Given the description of an element on the screen output the (x, y) to click on. 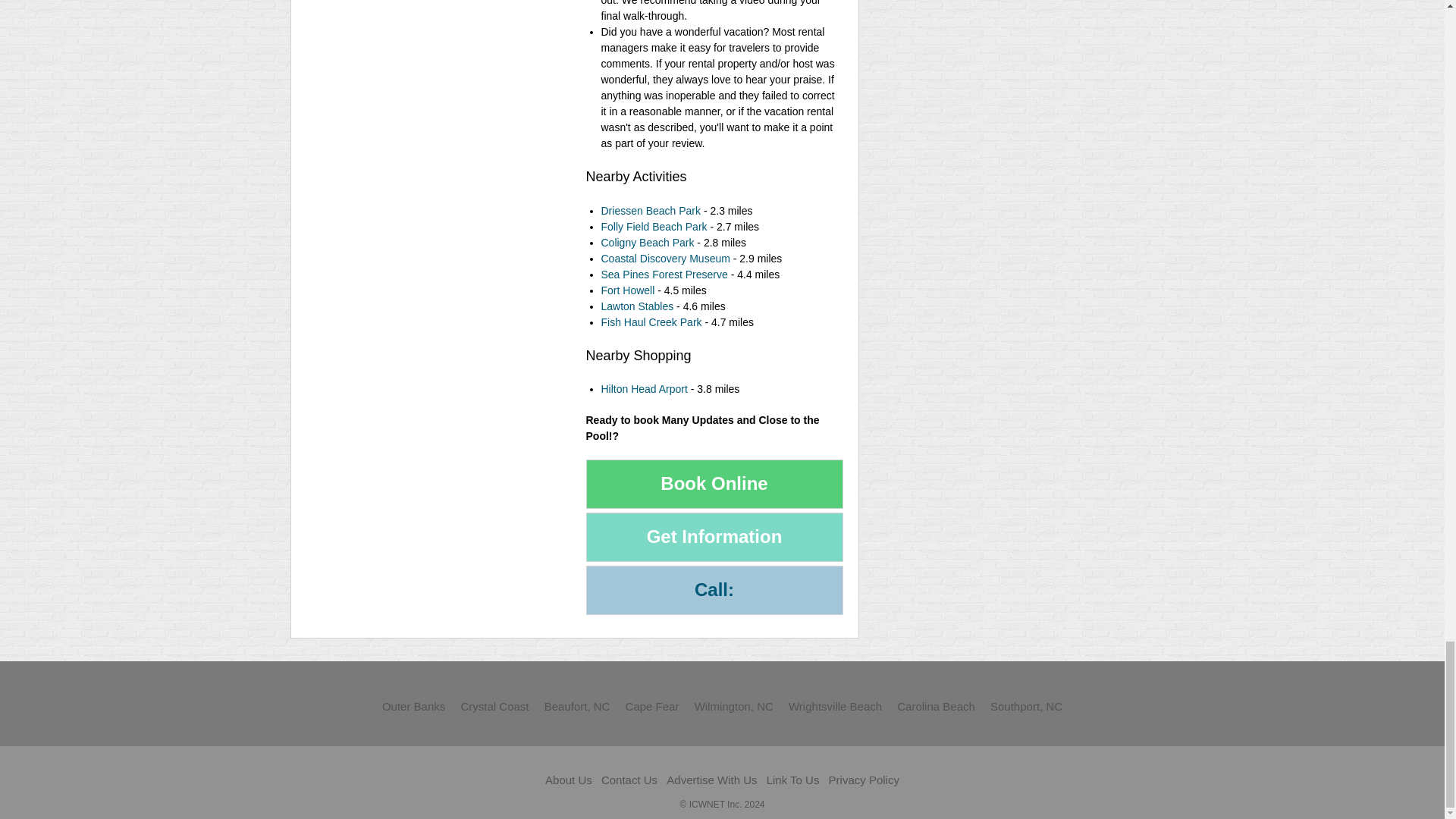
Call: (714, 590)
Get Information (714, 536)
Hilton Head Arport (643, 388)
Coastal Discovery Museum (664, 258)
Fort Howell (626, 290)
Lawton Stables (635, 306)
Fish Haul Creek Park (650, 322)
Coligny Beach Park (646, 242)
Driessen Beach Park (649, 210)
Book Online (714, 483)
